Given the description of an element on the screen output the (x, y) to click on. 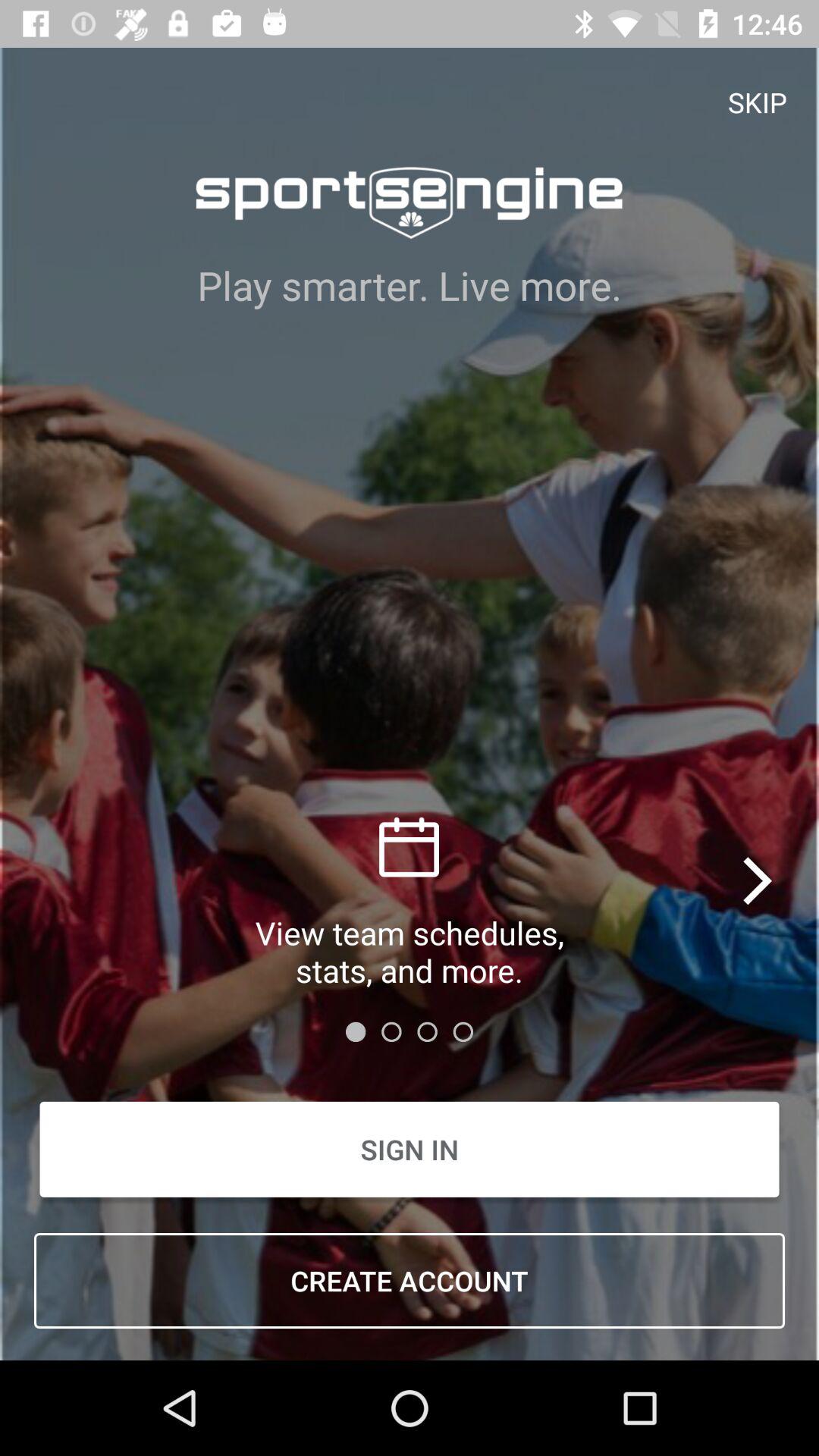
open the sign in item (409, 1149)
